Given the description of an element on the screen output the (x, y) to click on. 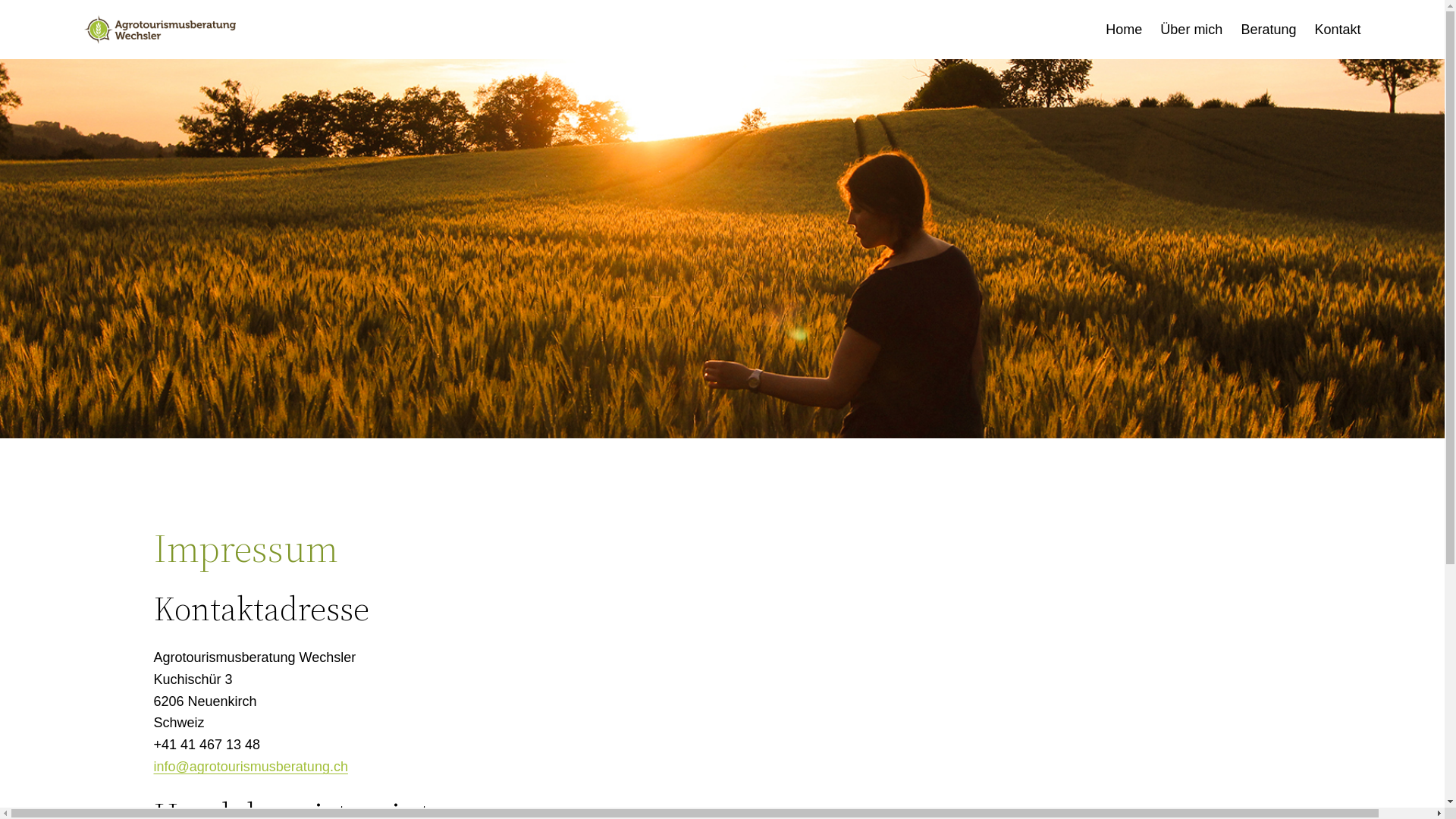
Kontakt Element type: text (1337, 29)
Beratung Element type: text (1267, 29)
Home Element type: text (1123, 29)
info@agrotourismusberatung.ch Element type: text (250, 766)
